Given the description of an element on the screen output the (x, y) to click on. 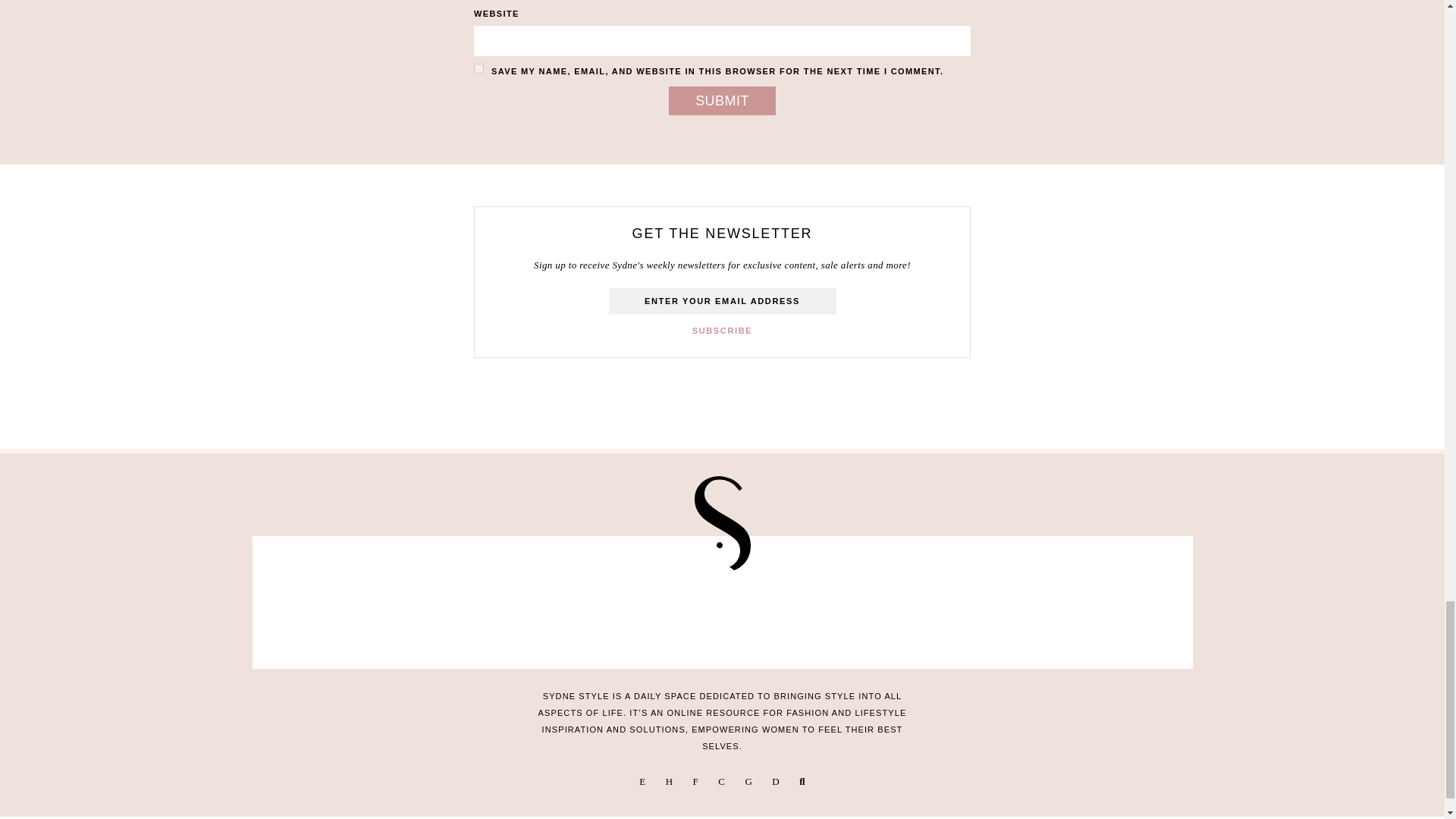
Submit (722, 100)
yes (478, 68)
Subscribe (722, 330)
